Given the description of an element on the screen output the (x, y) to click on. 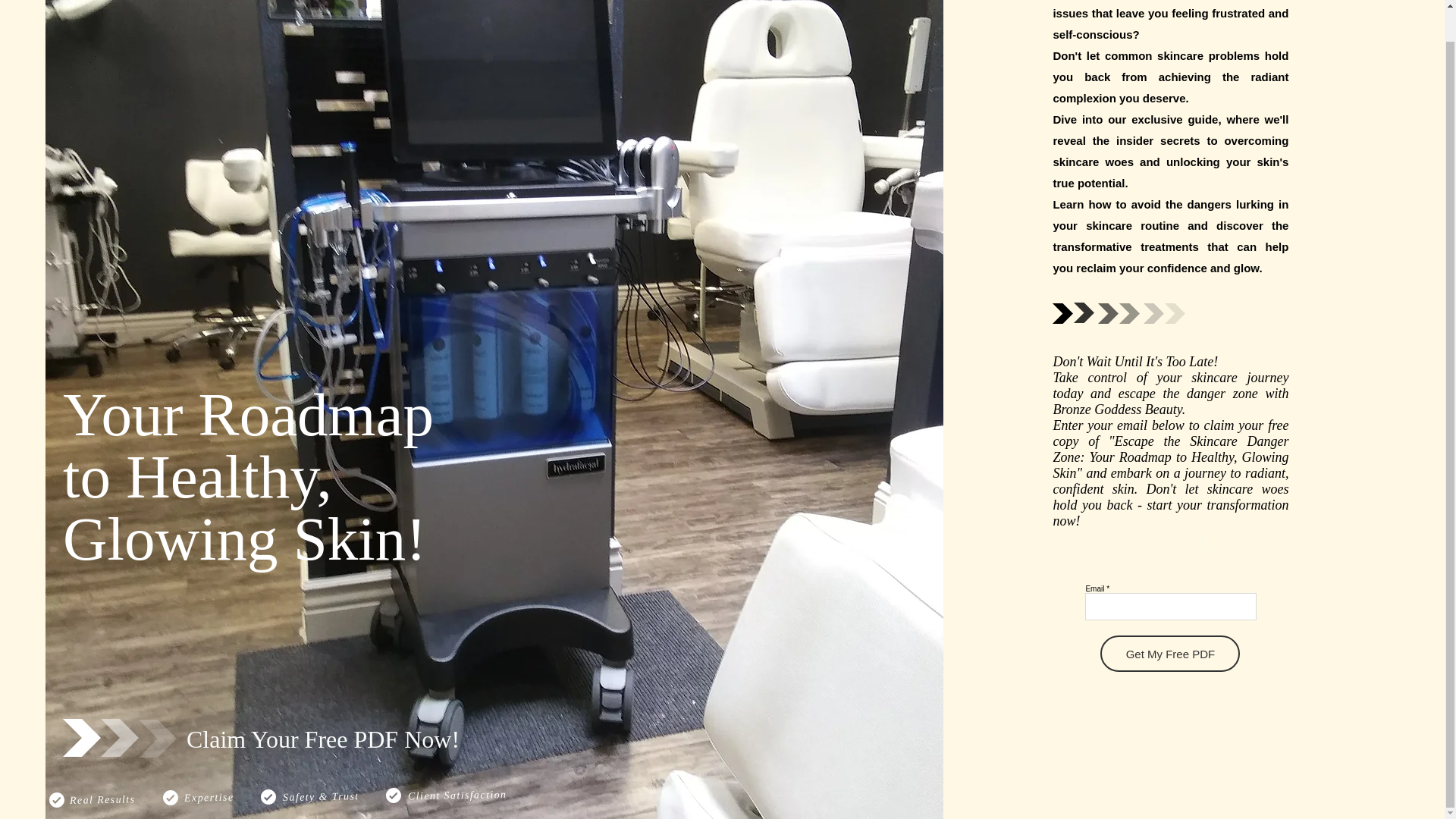
Smile.io Rewards Program Launcher (69, 748)
Get My Free PDF (1170, 653)
